Given the description of an element on the screen output the (x, y) to click on. 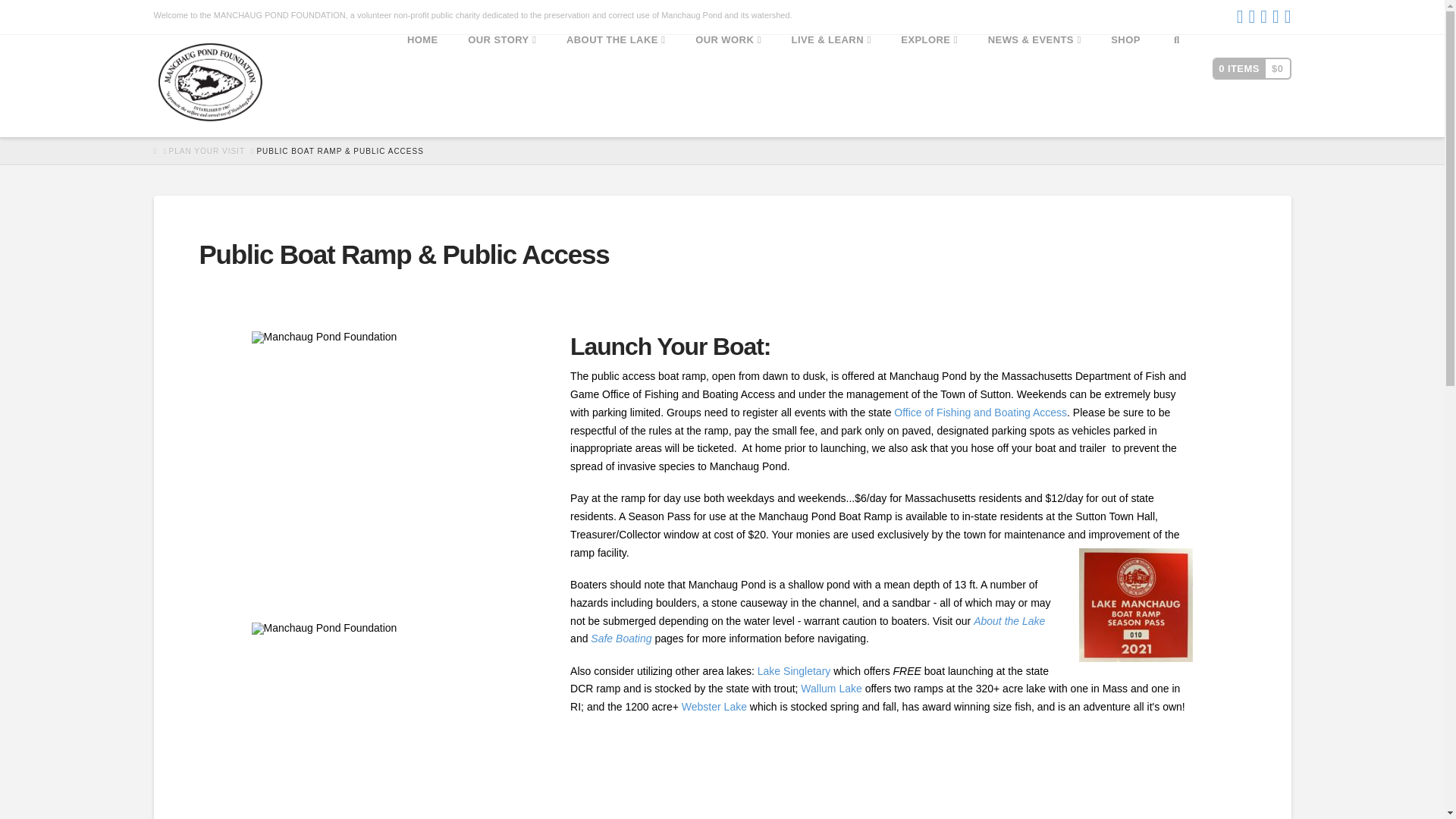
OUR STORY (501, 86)
ABOUT THE LAKE (615, 86)
OUR WORK (727, 86)
You Are Here (339, 150)
